Given the description of an element on the screen output the (x, y) to click on. 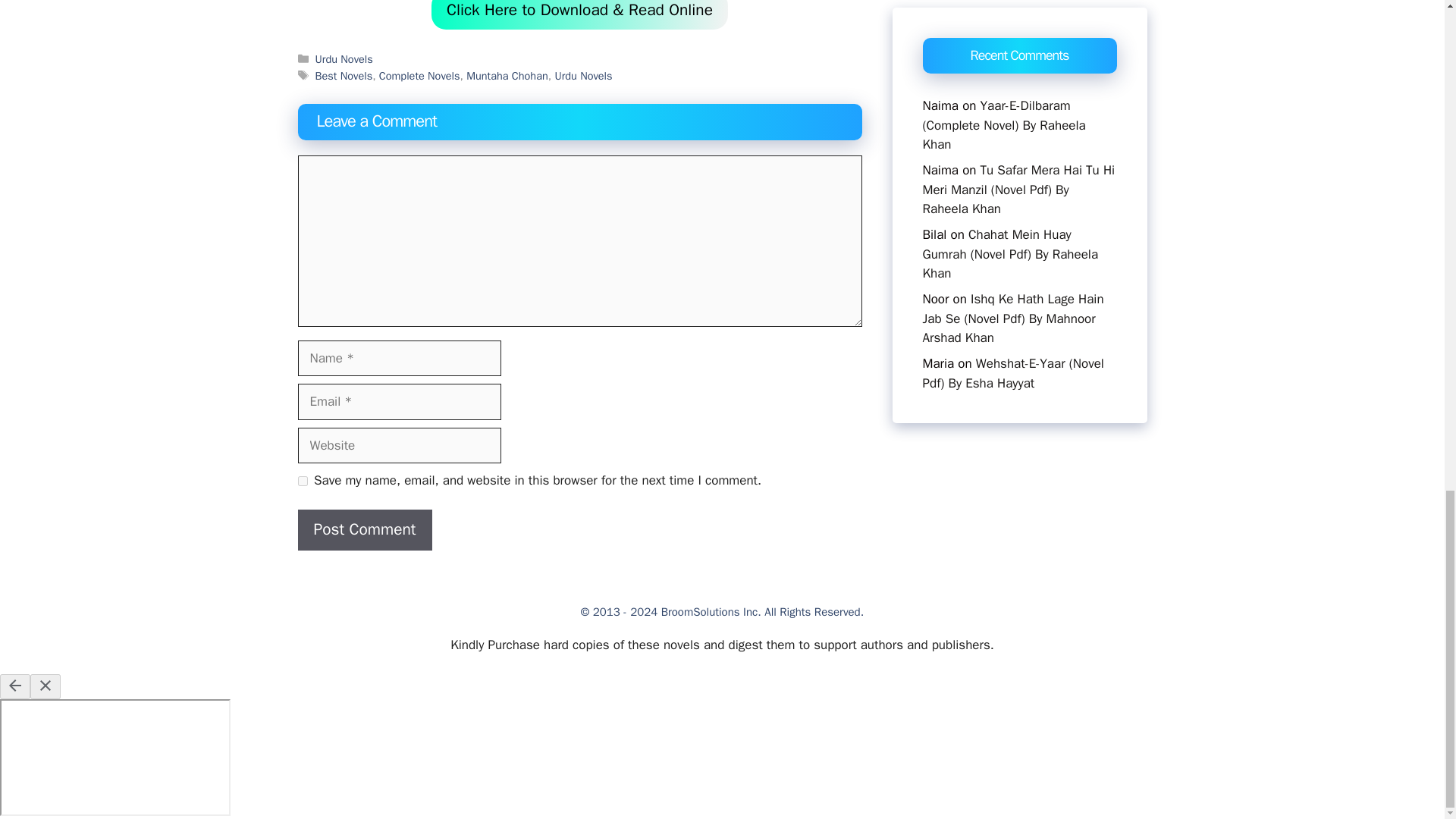
yes (302, 480)
Post Comment (363, 529)
Scroll back to top (1406, 299)
